Given the description of an element on the screen output the (x, y) to click on. 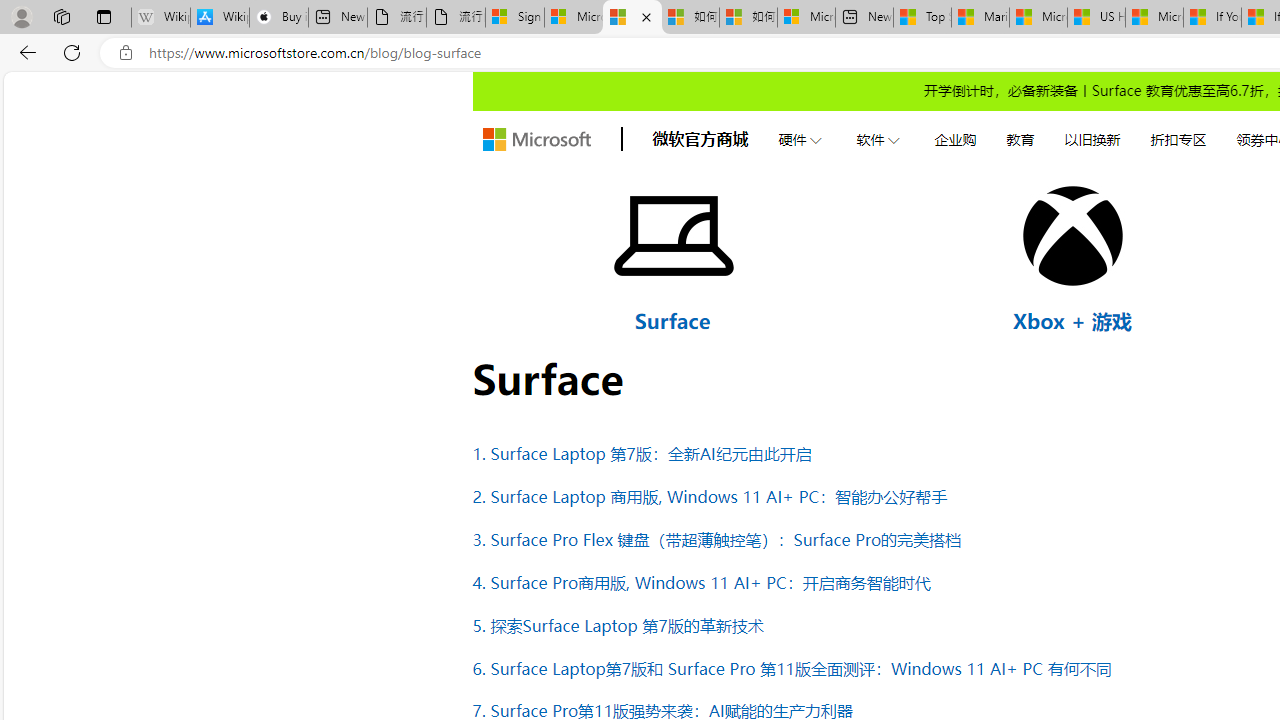
Sign in to your Microsoft account (514, 17)
Microsoft account | Account Checkup (806, 17)
store logo (536, 139)
Buy iPad - Apple (278, 17)
